Given the description of an element on the screen output the (x, y) to click on. 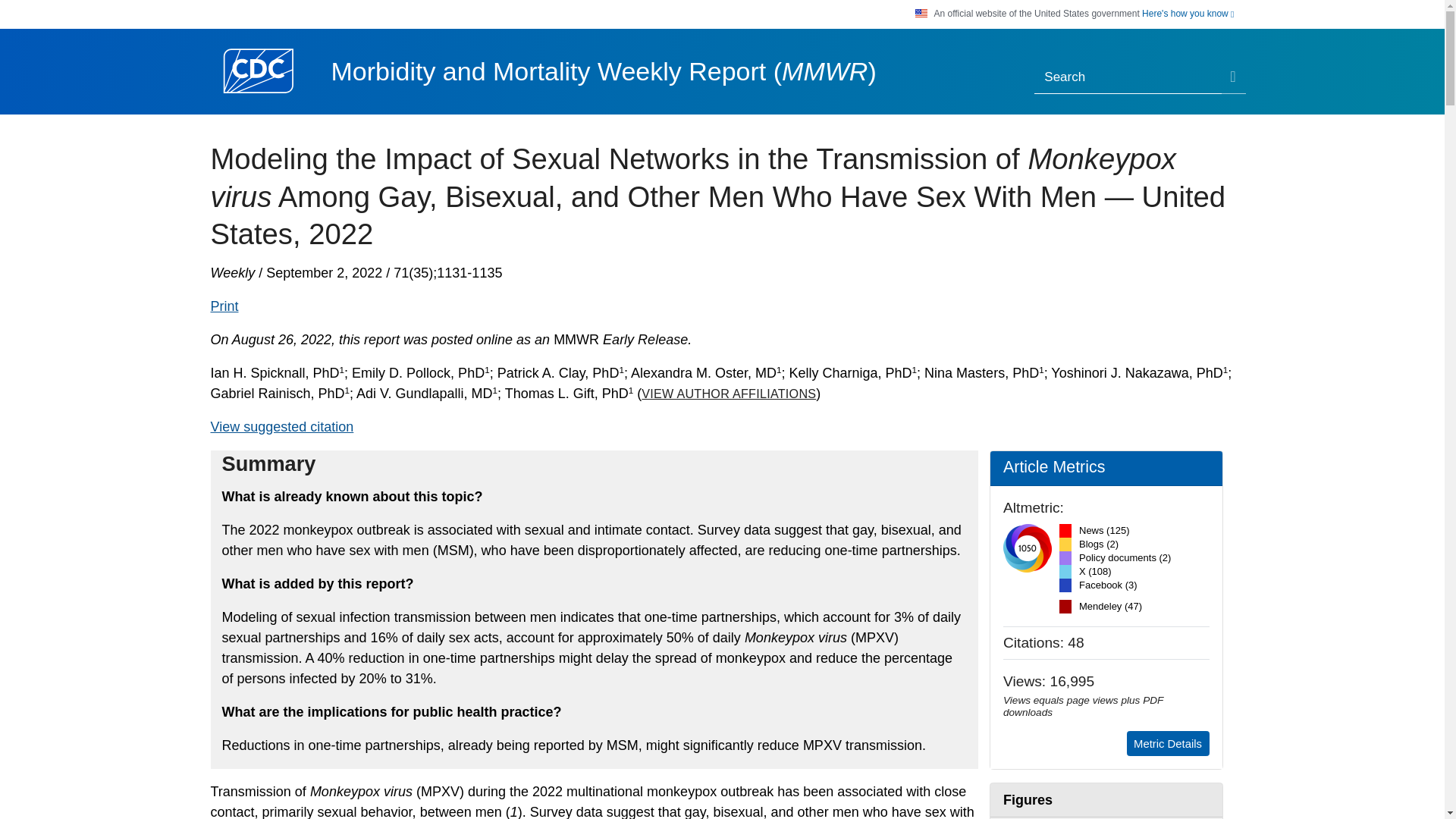
Submit (1233, 78)
Here's how you know (1187, 14)
